Given the description of an element on the screen output the (x, y) to click on. 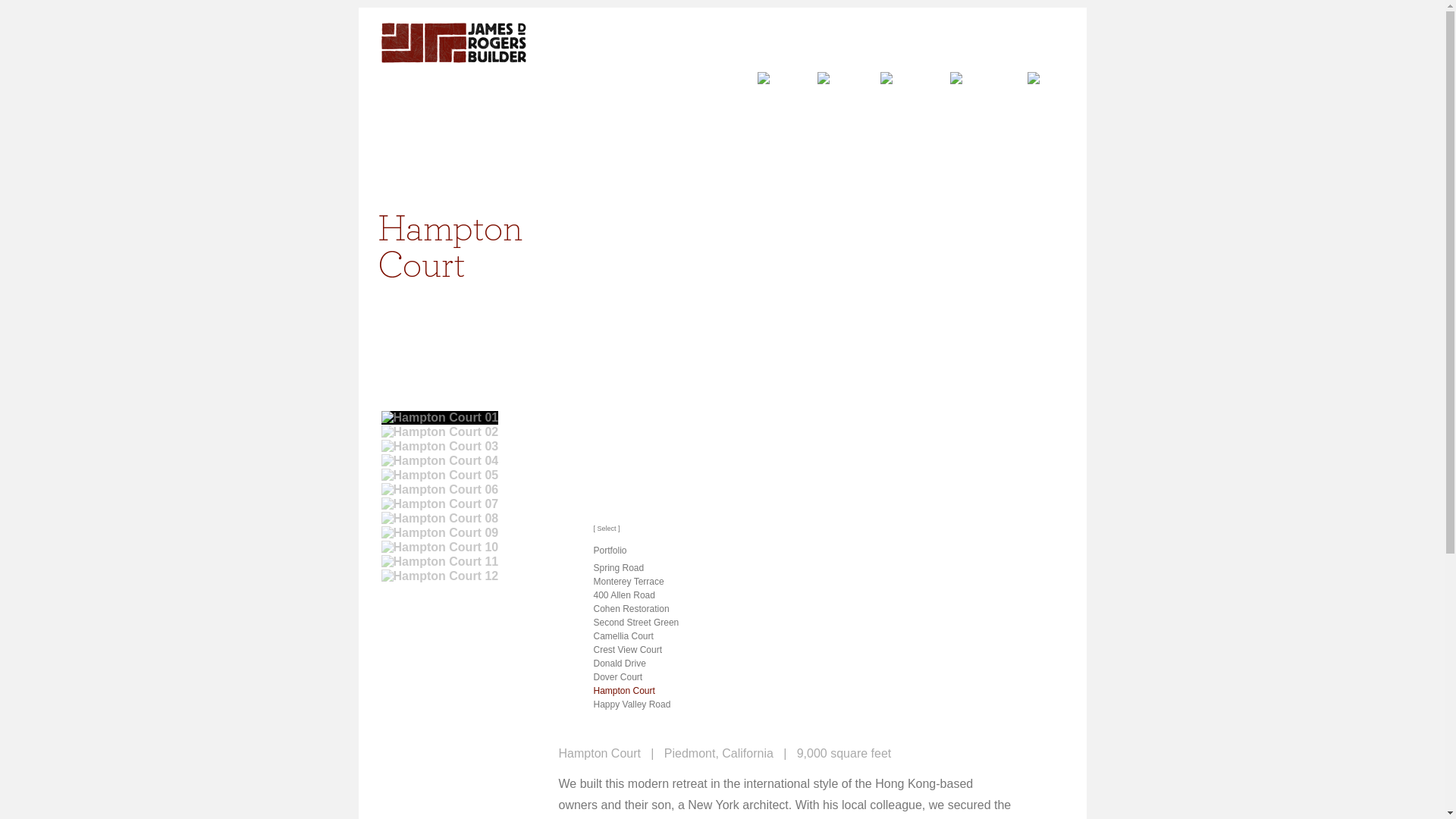
Second Street Green (635, 622)
Crest View Court (626, 649)
Hampton Court 01 (438, 418)
Contact Us (1032, 81)
Home (762, 81)
Hampton Court 12 (438, 576)
Spring Road (617, 567)
Cohen Restoration (630, 608)
Monterey Terrace (627, 581)
Recognition (954, 81)
